Given the description of an element on the screen output the (x, y) to click on. 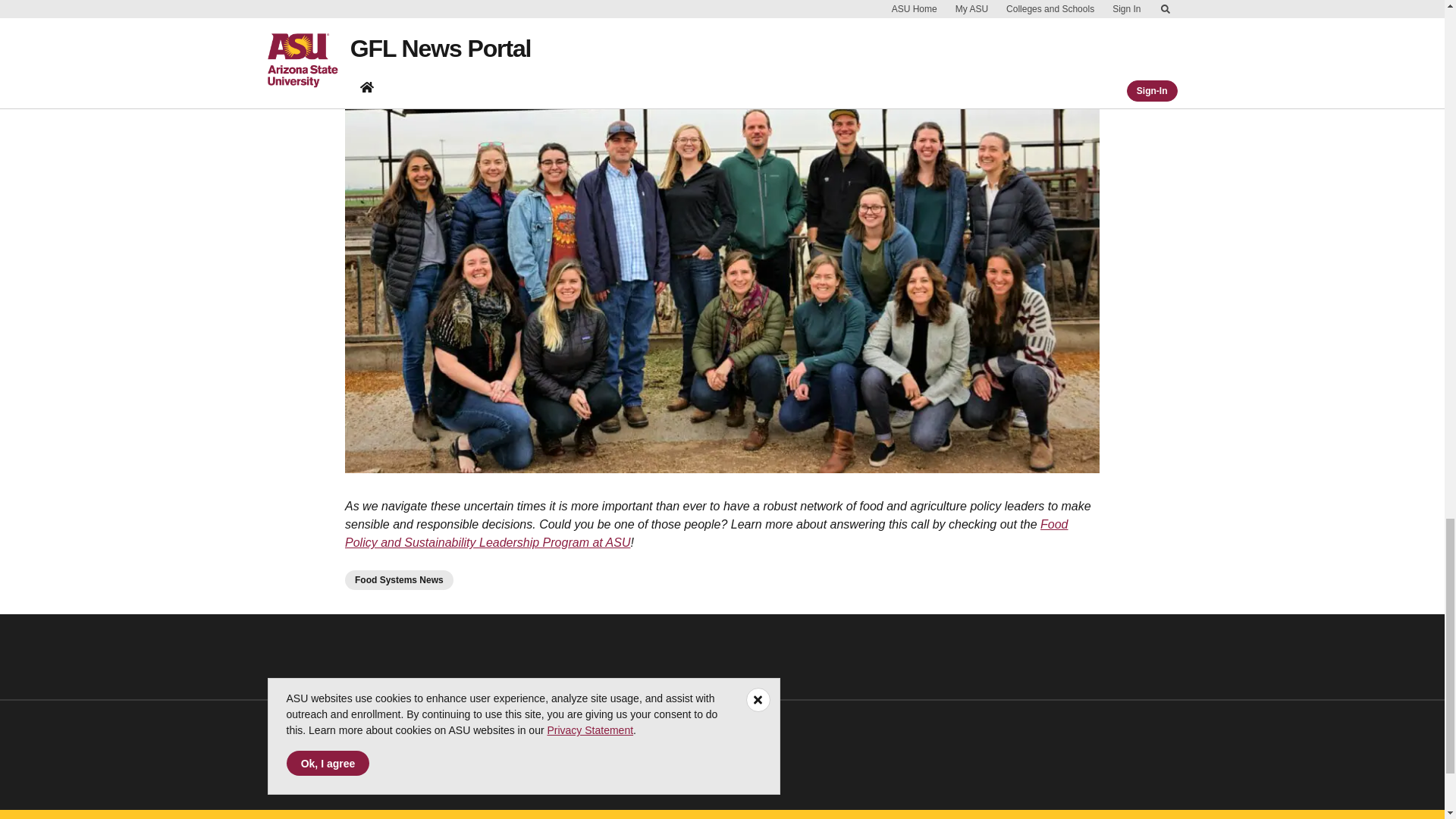
Food Systems News (398, 579)
Food Policy and Sustainability Leadership Program at ASU (706, 532)
